Given the description of an element on the screen output the (x, y) to click on. 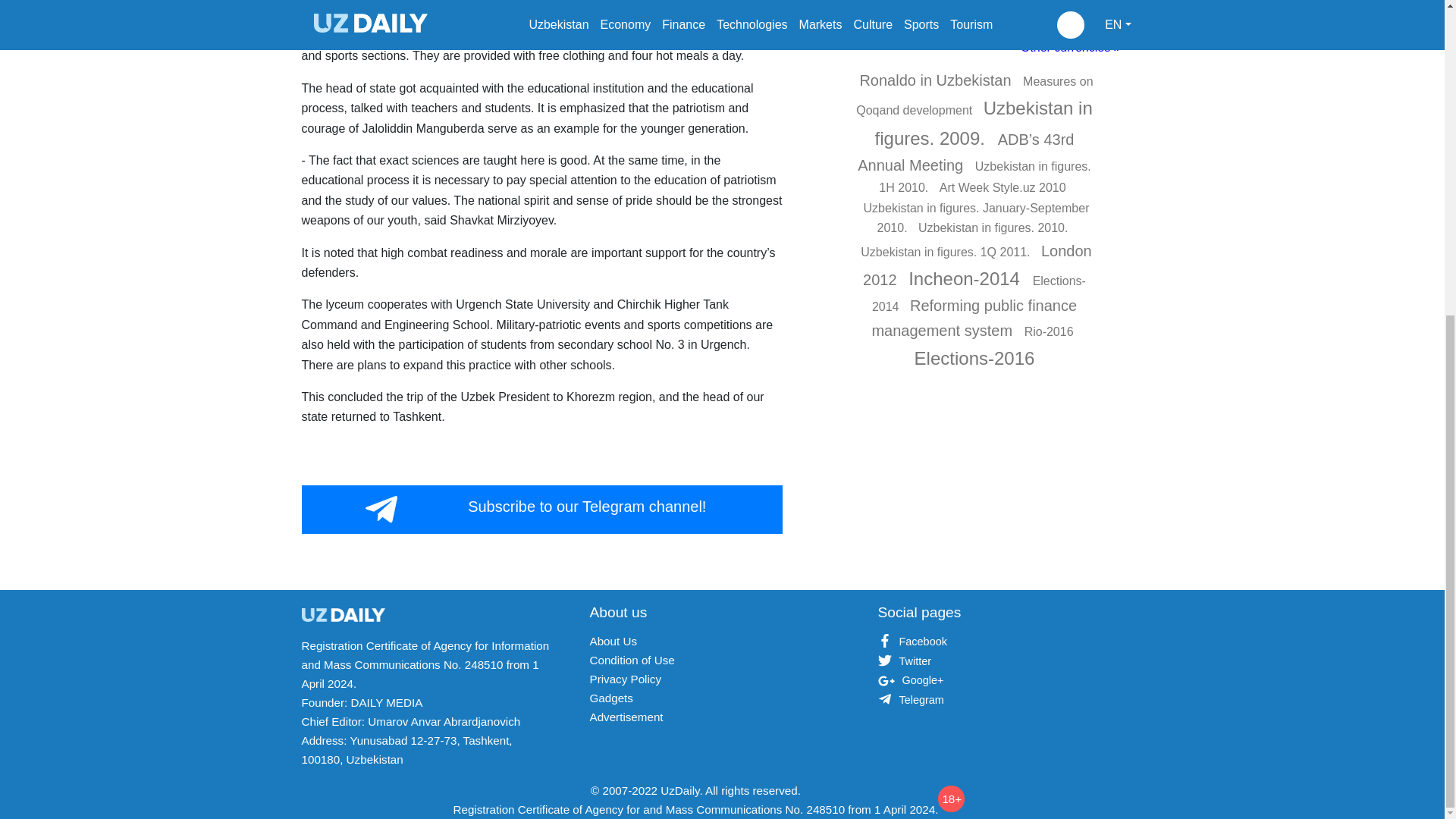
Uzbekistan in figures. 2009. (984, 122)
Measures on Qoqand development (974, 96)
Uzbekistan in figures. 1H 2010. (984, 176)
Ronaldo in Uzbekistan (936, 80)
Subscribe to our Telegram channel! (542, 509)
